Given the description of an element on the screen output the (x, y) to click on. 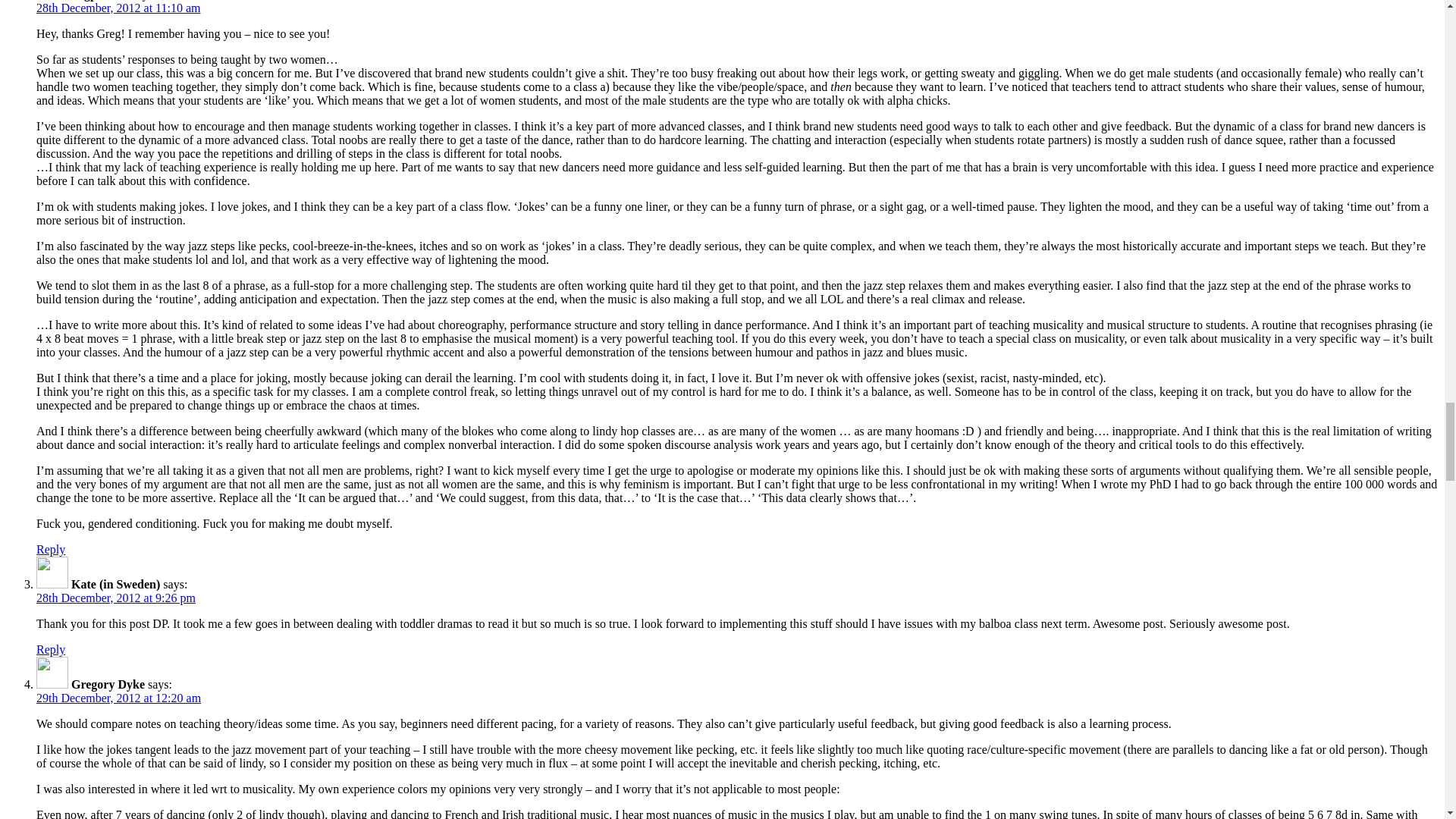
28th December, 2012 at 11:10 am (118, 7)
Reply (50, 649)
28th December, 2012 at 9:26 pm (115, 597)
Reply (50, 549)
29th December, 2012 at 12:20 am (118, 697)
